Given the description of an element on the screen output the (x, y) to click on. 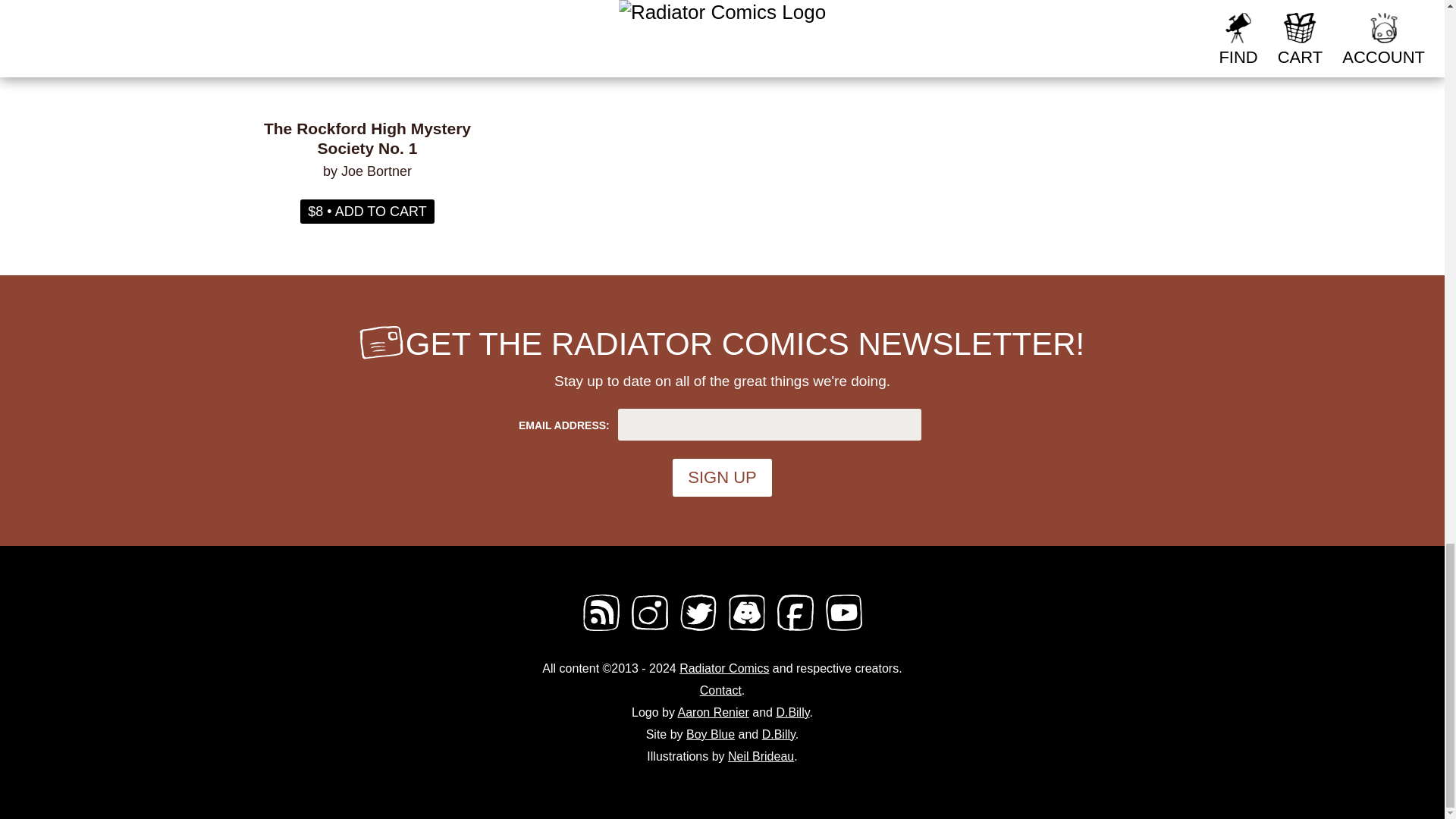
Sign up (721, 477)
